Given the description of an element on the screen output the (x, y) to click on. 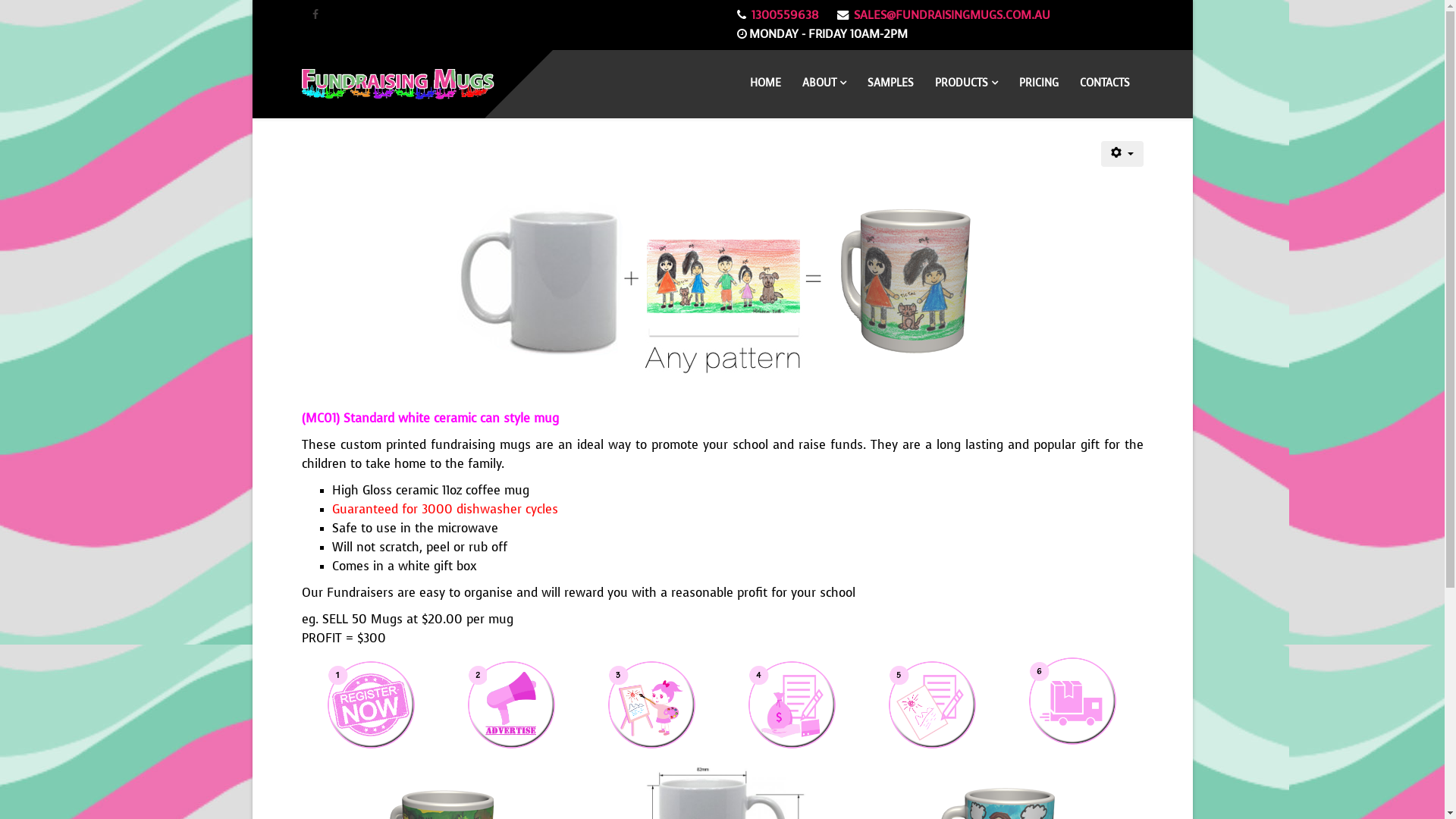
SAMPLES Element type: text (890, 83)
1300559638 Element type: text (783, 14)
PRODUCTS Element type: text (965, 82)
ABOUT Element type: text (824, 82)
Fundraising Mugs Element type: hover (721, 287)
SALES@FUNDRAISINGMUGS.COM.AU Element type: text (951, 14)
HOME Element type: text (764, 83)
CONTACTS Element type: text (1104, 83)
PRICING Element type: text (1038, 83)
